Given the description of an element on the screen output the (x, y) to click on. 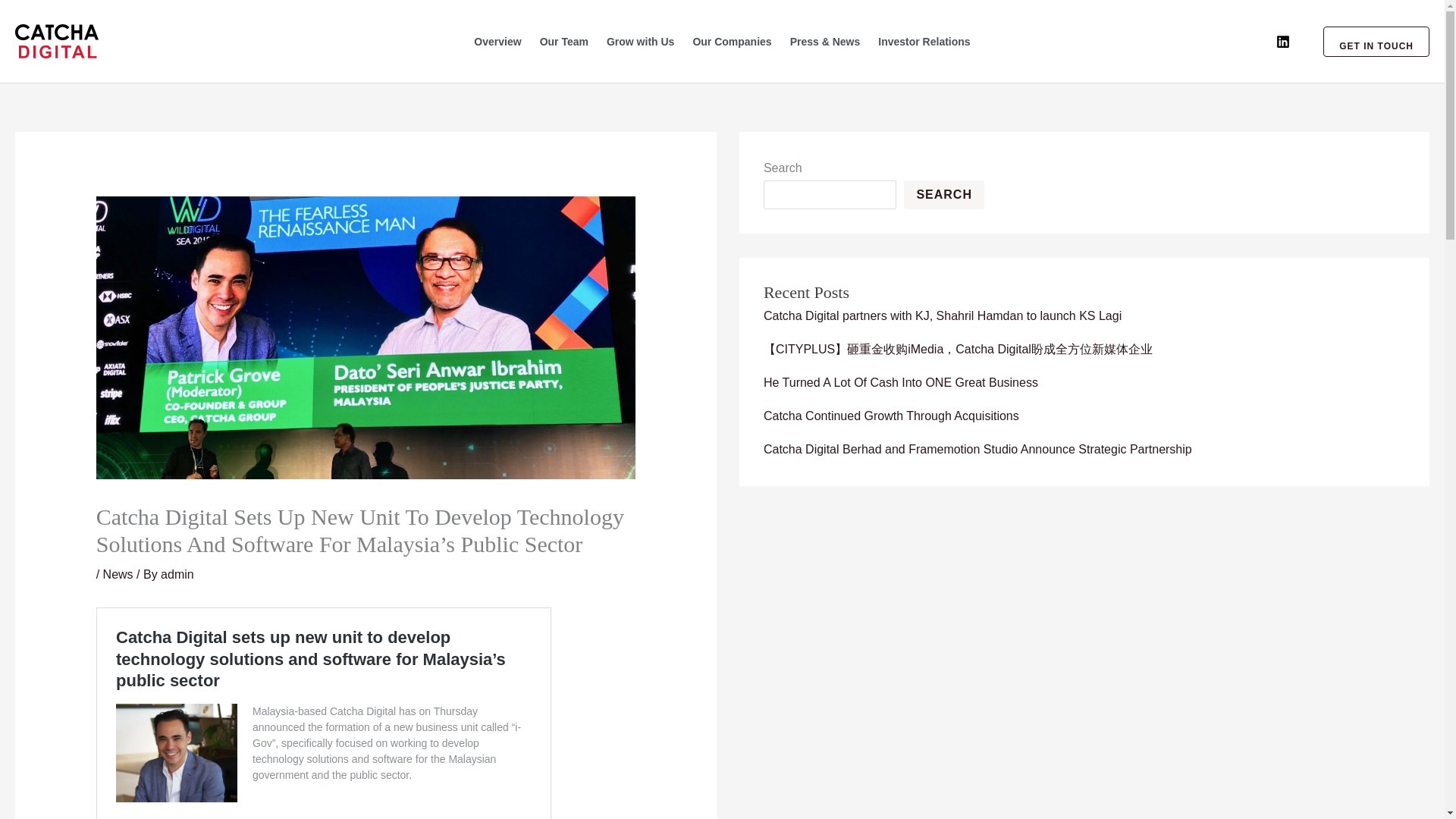
Our Team (563, 41)
Catcha Continued Growth Through Acquisitions (890, 415)
Overview (496, 41)
Our Companies (731, 41)
News (118, 574)
SEARCH (944, 194)
admin (176, 574)
He Turned A Lot Of Cash Into ONE Great Business (900, 382)
View all posts by admin (176, 574)
GET IN TOUCH (1366, 40)
Grow with Us (639, 41)
Investor Relations (923, 41)
